Given the description of an element on the screen output the (x, y) to click on. 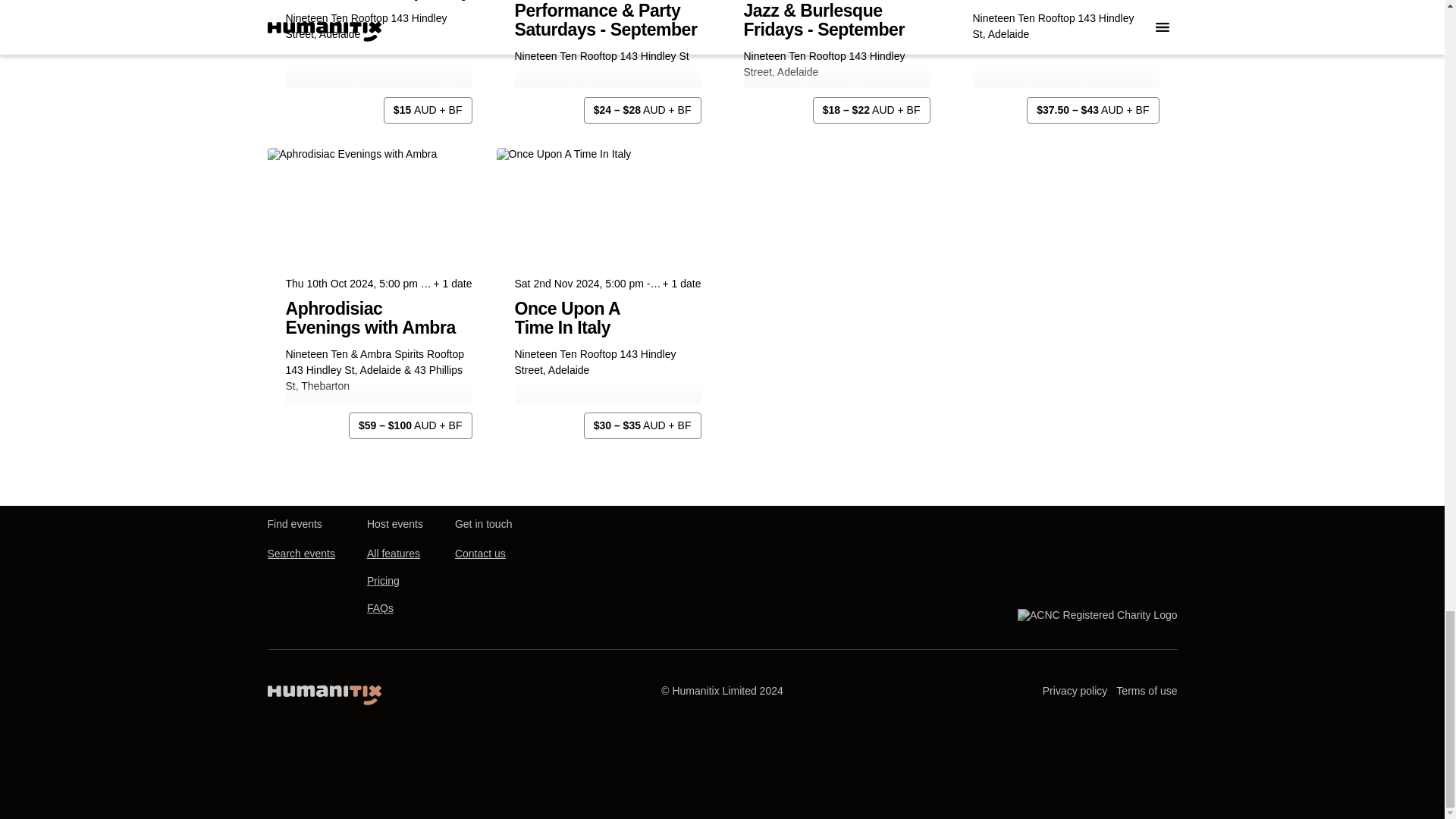
Search events (300, 553)
All features (393, 553)
Pricing (382, 580)
